Given the description of an element on the screen output the (x, y) to click on. 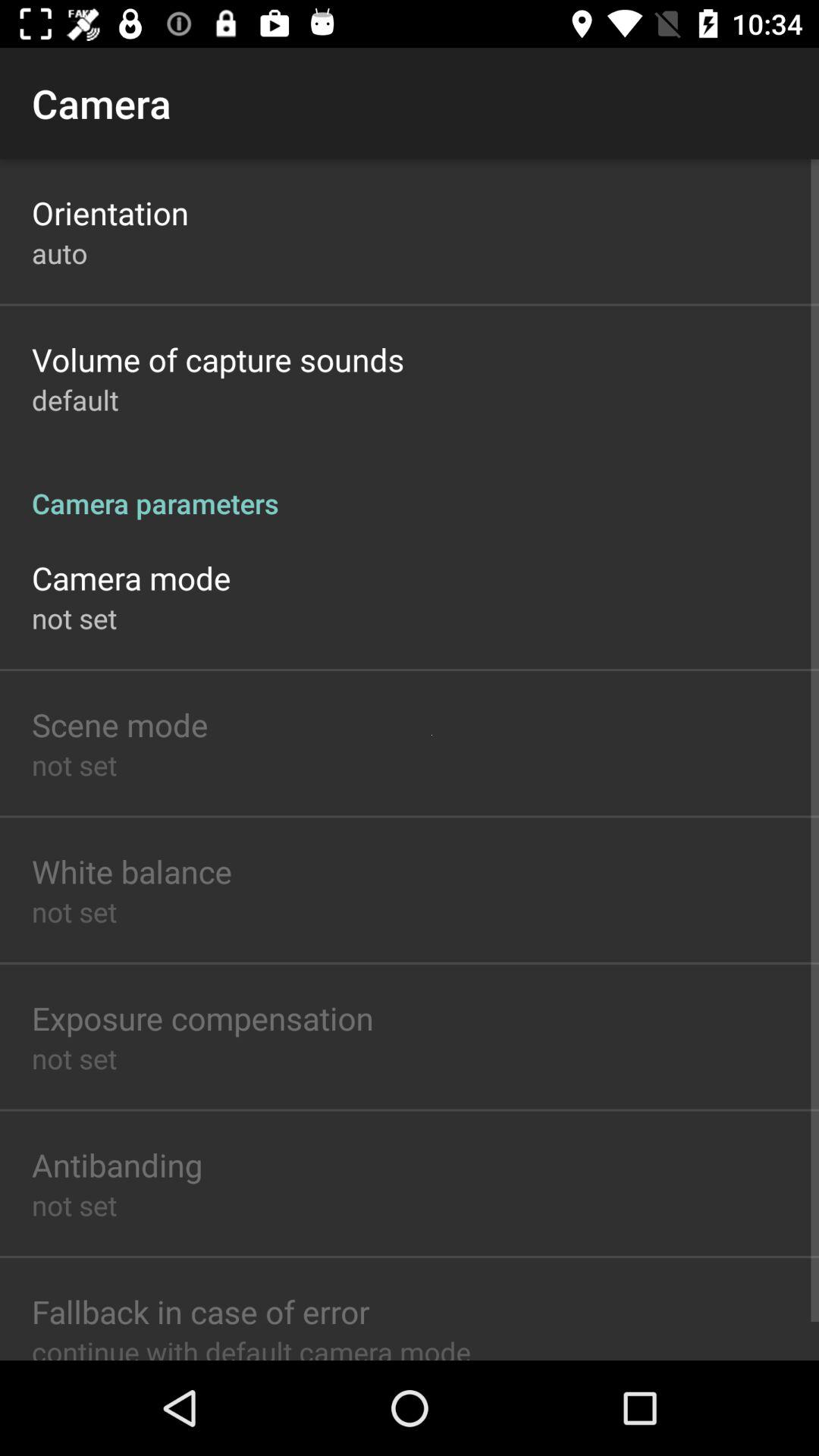
tap app above not set app (119, 724)
